Given the description of an element on the screen output the (x, y) to click on. 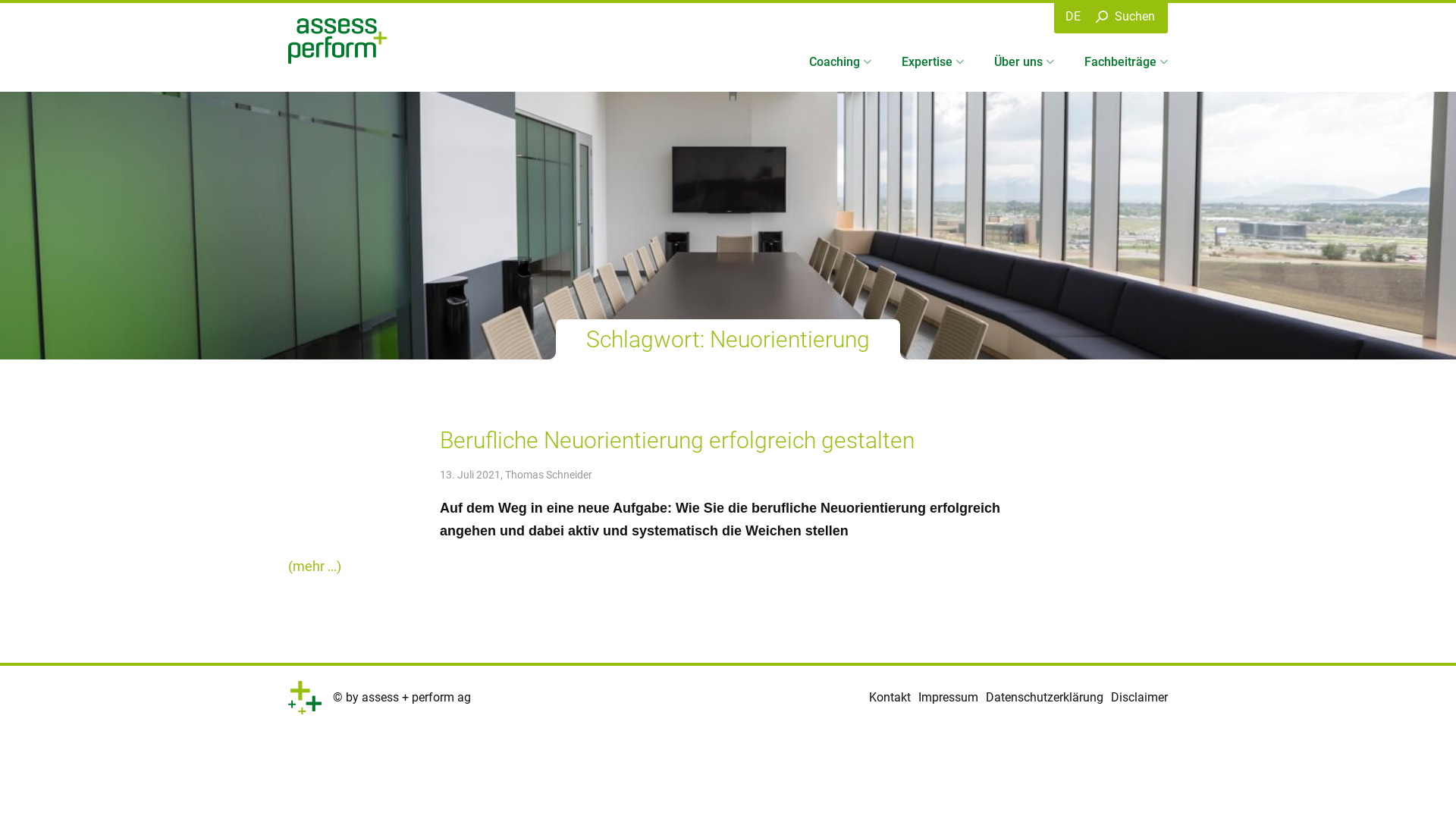
Coaching Element type: text (840, 62)
DE Element type: text (1072, 16)
Impressum Element type: text (948, 697)
Disclaimer Element type: text (1138, 697)
Expertise Element type: text (932, 62)
Berufliche Neuorientierung erfolgreich gestalten Element type: text (676, 439)
Kontakt Element type: text (889, 697)
